Given the description of an element on the screen output the (x, y) to click on. 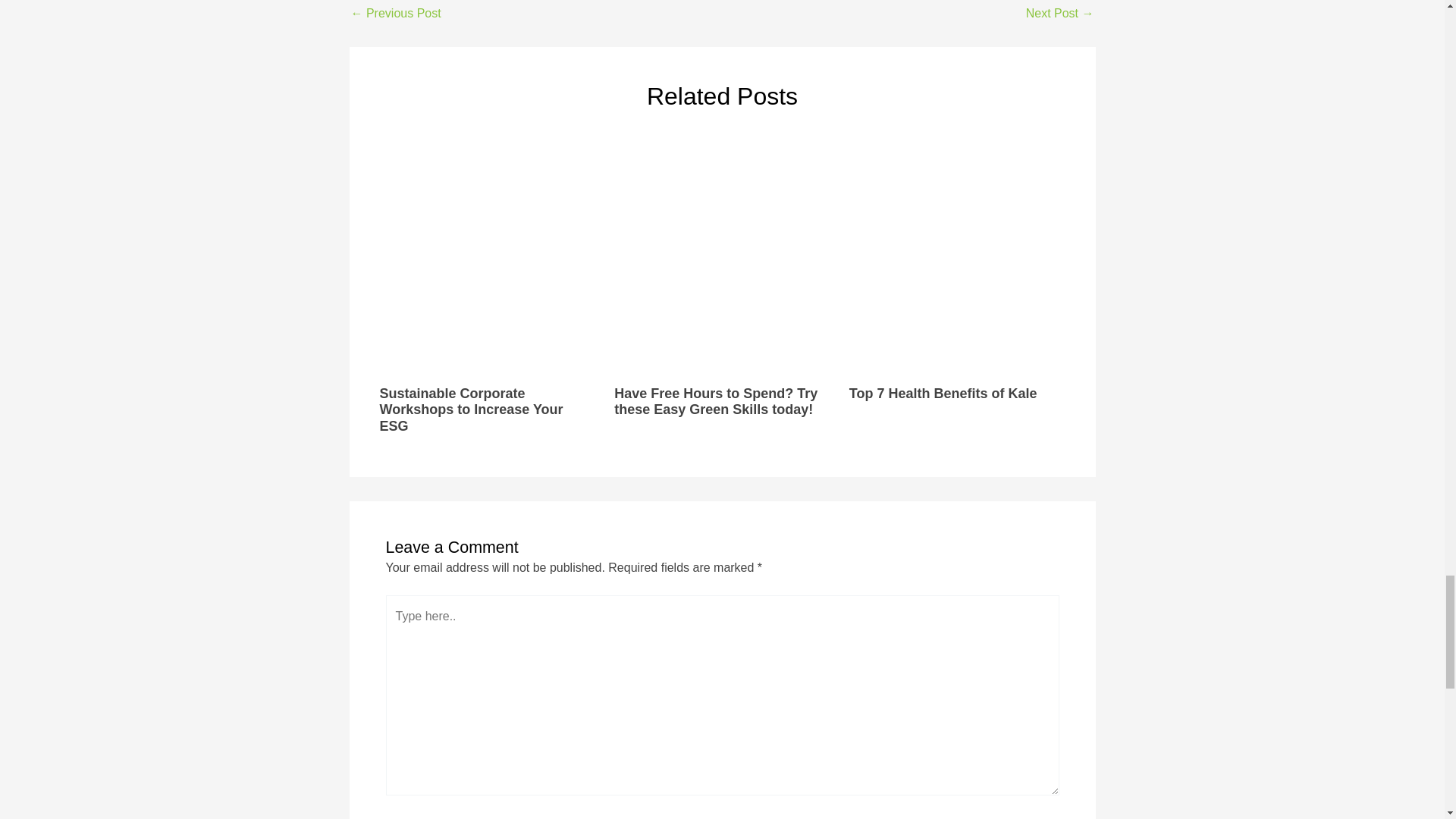
IoT in Urban Farming (395, 13)
